Given the description of an element on the screen output the (x, y) to click on. 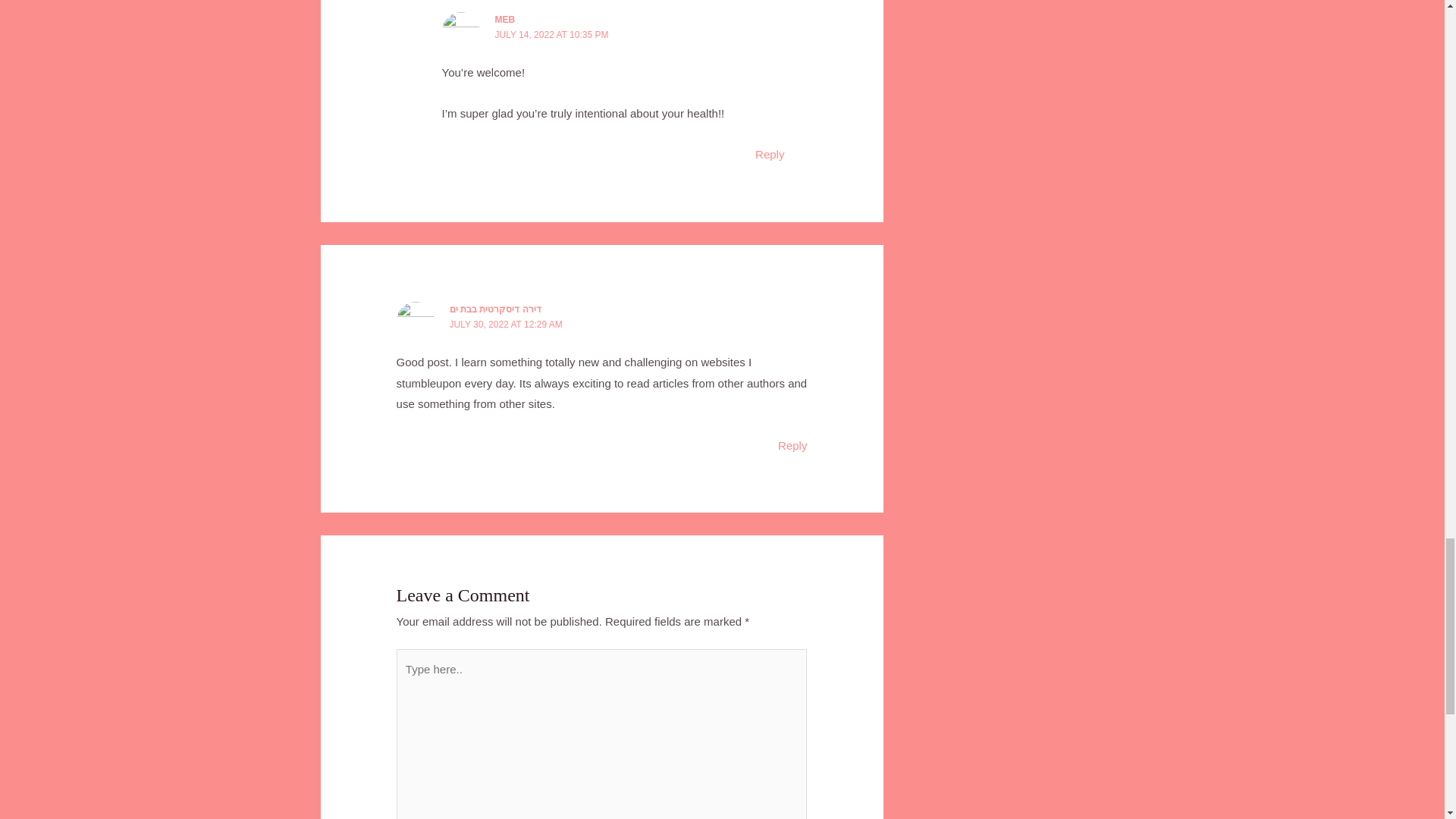
Reply (769, 154)
MEB (505, 19)
JULY 14, 2022 AT 10:35 PM (551, 34)
Reply (791, 444)
JULY 30, 2022 AT 12:29 AM (505, 324)
